Given the description of an element on the screen output the (x, y) to click on. 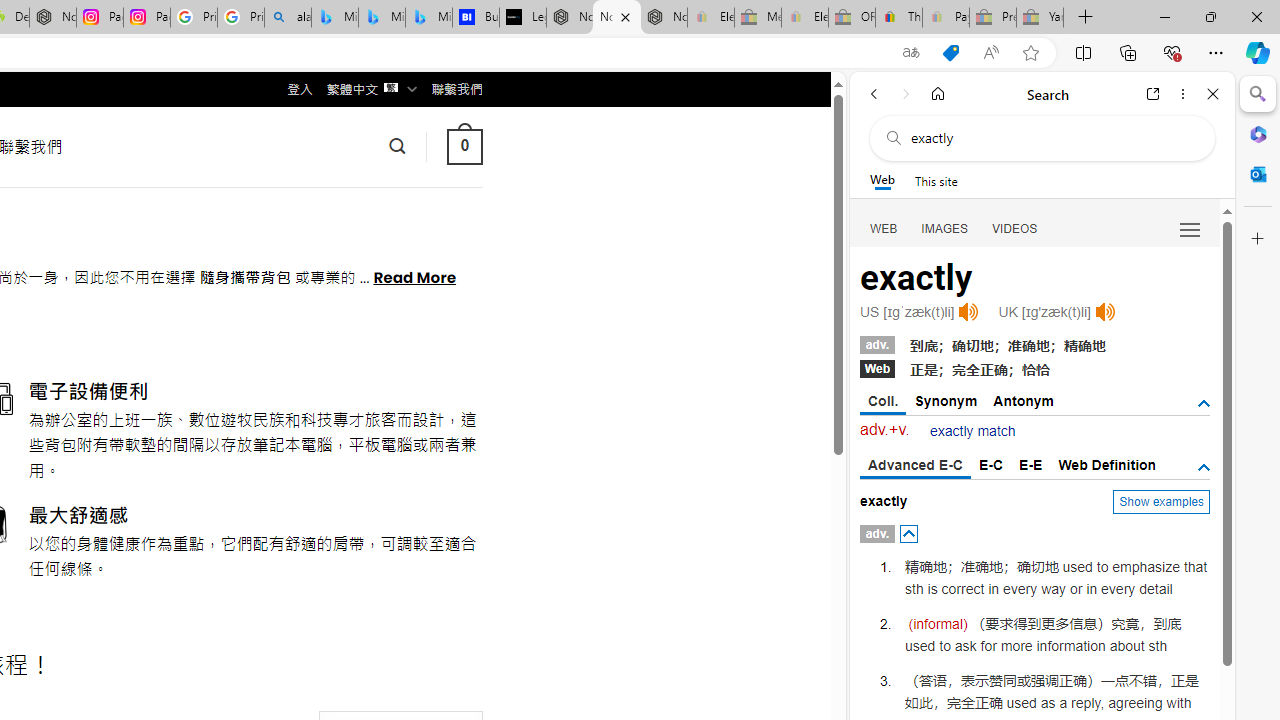
Click to listen (1104, 312)
WEB (884, 228)
Coll. (883, 402)
Web Definition (1106, 464)
Synonym (945, 400)
E-E (1030, 464)
Threats and offensive language policy | eBay (898, 17)
Press Room - eBay Inc. - Sleeping (993, 17)
